Given the description of an element on the screen output the (x, y) to click on. 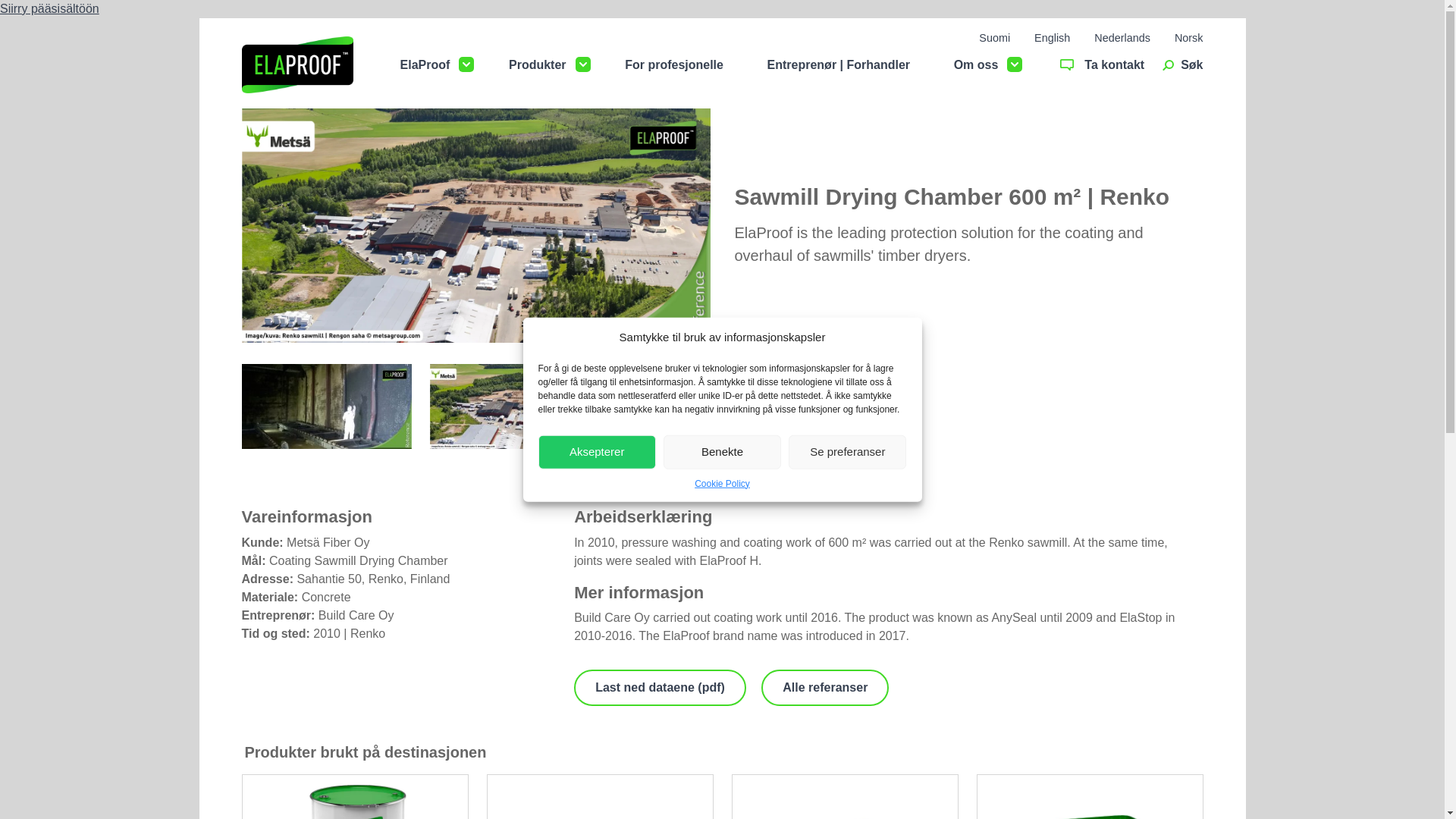
Se preferanser (847, 451)
Norsk (1189, 37)
Aksepterer (597, 451)
English (1051, 37)
Benekte (721, 451)
Cookie Policy (721, 482)
Suomi (994, 37)
ElaProof (425, 65)
Nederlands (1122, 37)
